Given the description of an element on the screen output the (x, y) to click on. 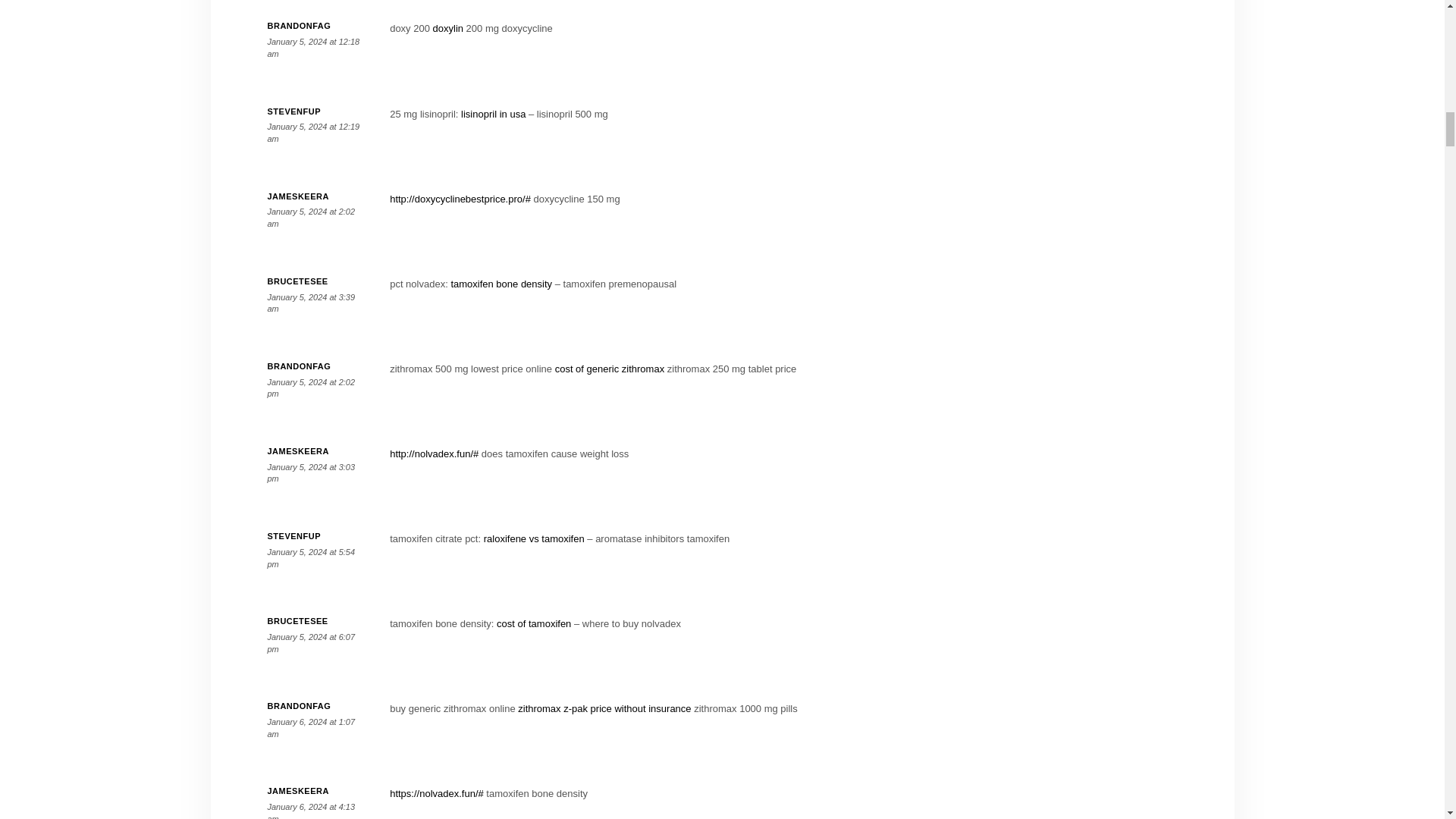
January 6, 2024 at 1:07 am (310, 727)
January 5, 2024 at 2:02 am (310, 217)
January 5, 2024 at 5:54 pm (310, 557)
cost of tamoxifen (533, 623)
zithromax z-pak price without insurance (604, 708)
January 5, 2024 at 12:18 am (312, 47)
tamoxifen bone density (500, 283)
January 5, 2024 at 3:03 pm (310, 473)
January 5, 2024 at 2:02 pm (310, 387)
January 5, 2024 at 12:19 am (312, 132)
